Given the description of an element on the screen output the (x, y) to click on. 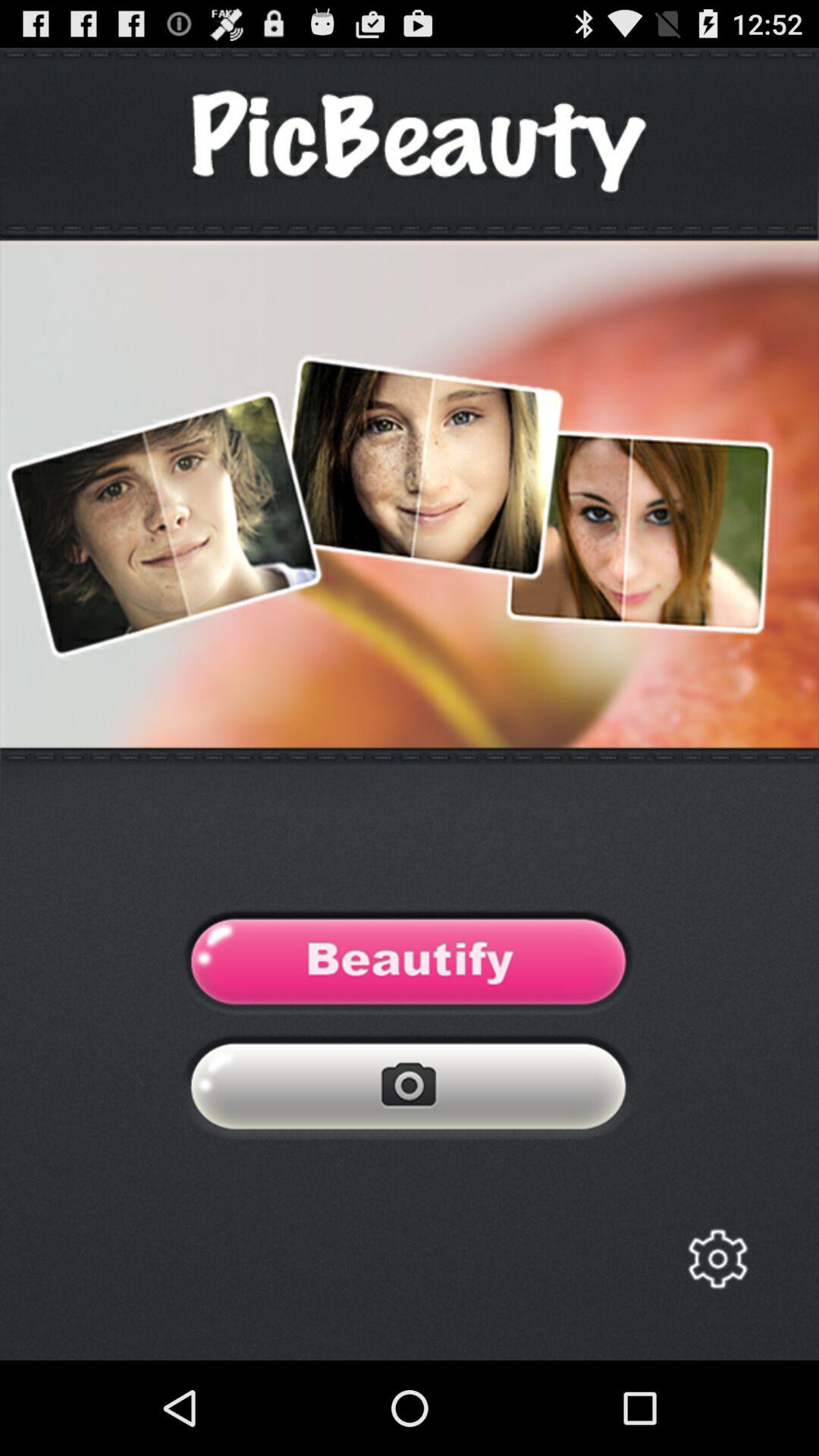
the button is used to take photo (408, 1090)
